Given the description of an element on the screen output the (x, y) to click on. 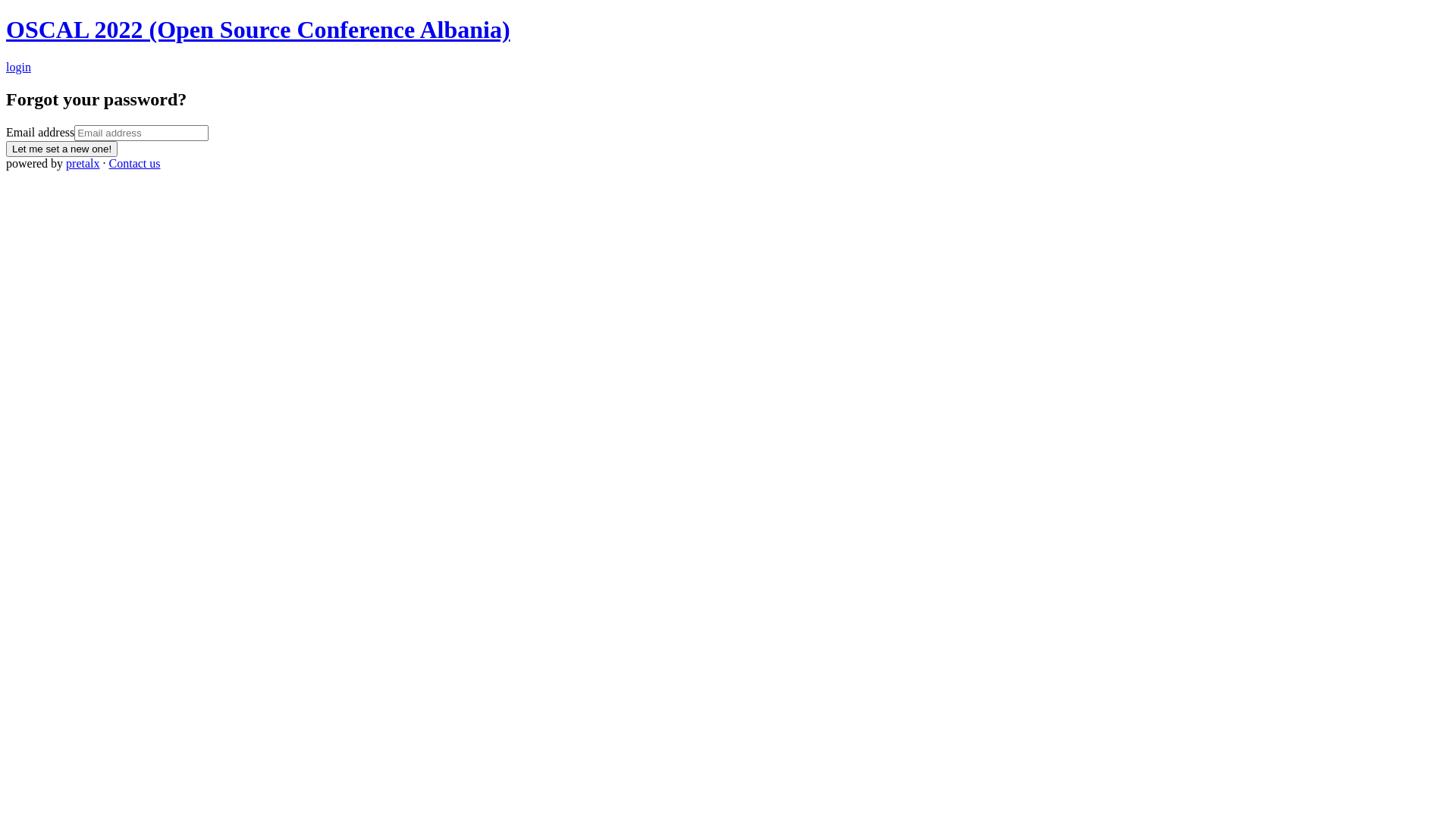
Let me set a new one! Element type: text (61, 148)
Contact us Element type: text (134, 162)
login Element type: text (18, 66)
OSCAL 2022 (Open Source Conference Albania) Element type: text (258, 29)
pretalx Element type: text (82, 162)
